Given the description of an element on the screen output the (x, y) to click on. 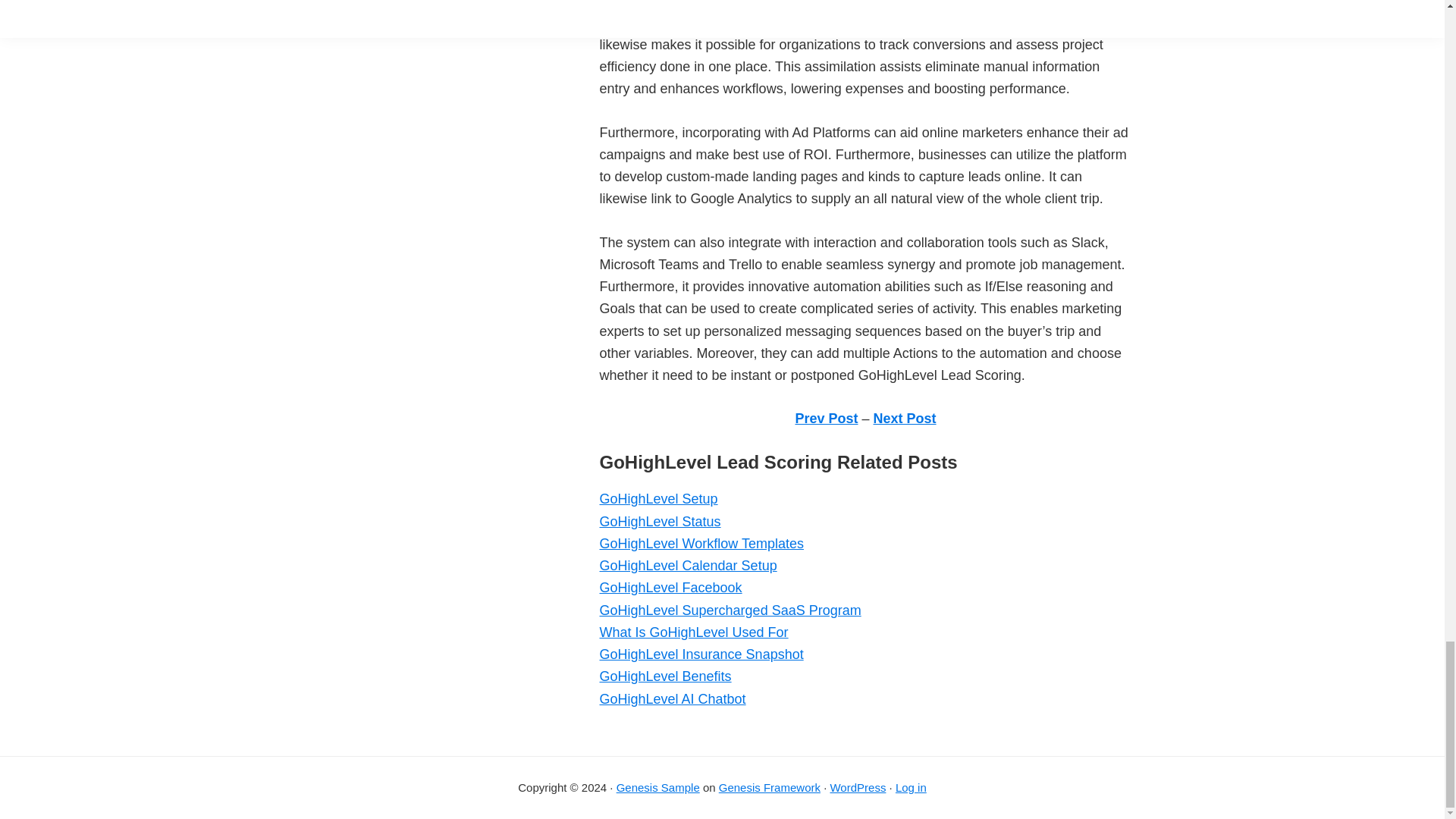
GoHighLevel Benefits (664, 676)
GoHighLevel Facebook (669, 587)
GoHighLevel Setup (657, 498)
GoHighLevel Benefits (664, 676)
WordPress (857, 787)
GoHighLevel Insurance Snapshot (700, 654)
Next Post (904, 418)
What Is GoHighLevel Used For (692, 631)
What Is GoHighLevel Used For (692, 631)
GoHighLevel Setup (657, 498)
Log in (910, 787)
GoHighLevel Calendar Setup (687, 565)
GoHighLevel Workflow Templates (700, 543)
GoHighLevel Insurance Snapshot (700, 654)
GoHighLevel Workflow Templates (700, 543)
